Given the description of an element on the screen output the (x, y) to click on. 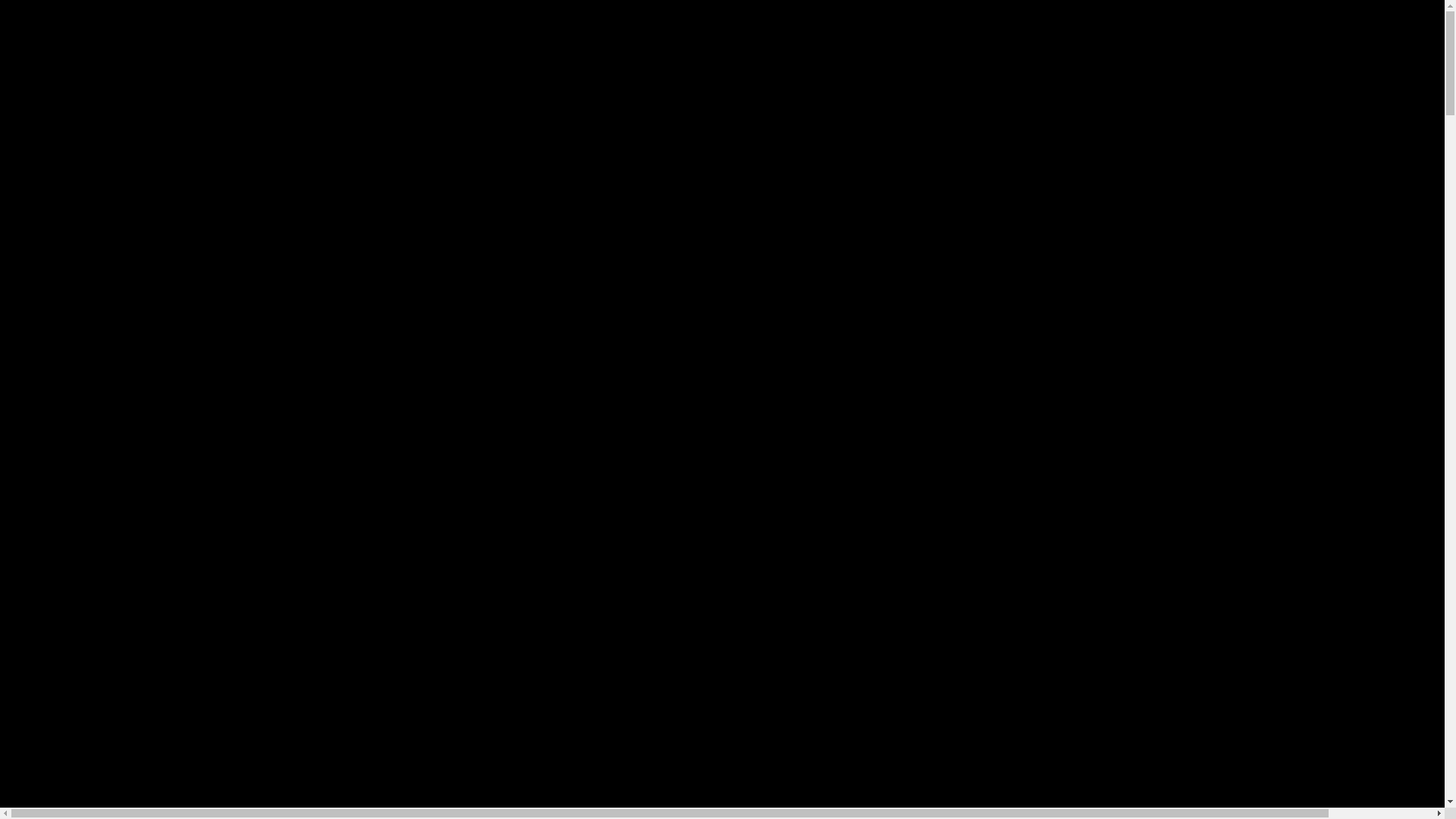
Chronik Element type: text (86, 134)
GUGGENMUSIG Element type: text (81, 80)
Termine Element type: text (86, 66)
NEWS Element type: text (53, 53)
Fotos Element type: text (80, 162)
Vorstand Element type: text (87, 107)
Videos Element type: text (83, 175)
SOUND & EMOTIONEN Element type: text (101, 148)
Ehrenmitglieder Element type: text (105, 121)
Aktivmitglieder Element type: text (105, 93)
LUUS OF THE YEAR Element type: text (92, 203)
